Given the description of an element on the screen output the (x, y) to click on. 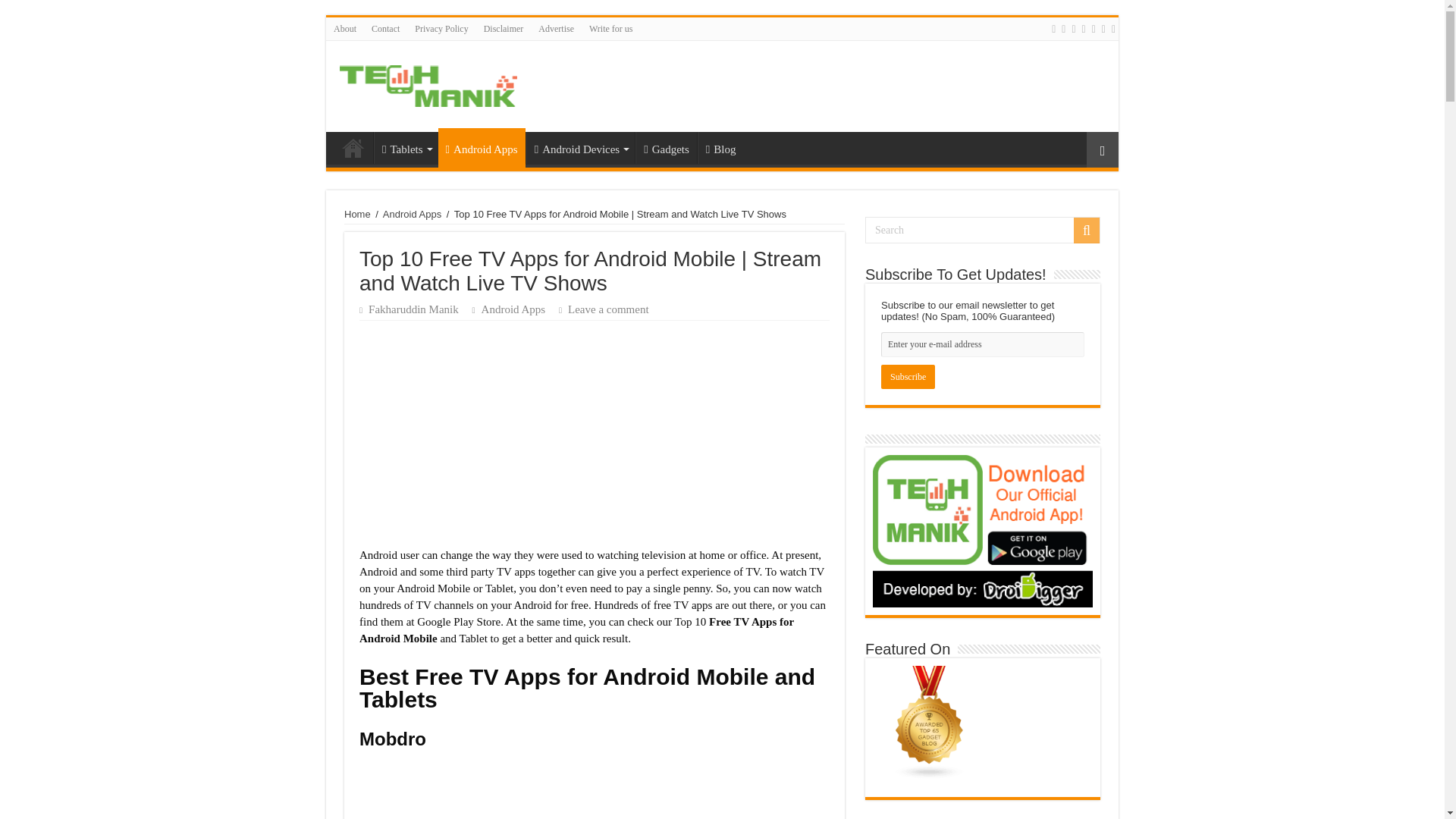
Privacy Policy (441, 28)
Subscribe (907, 376)
Search (982, 230)
Enter your e-mail address (982, 344)
About (345, 28)
Contact (385, 28)
Disclaimer (503, 28)
